Given the description of an element on the screen output the (x, y) to click on. 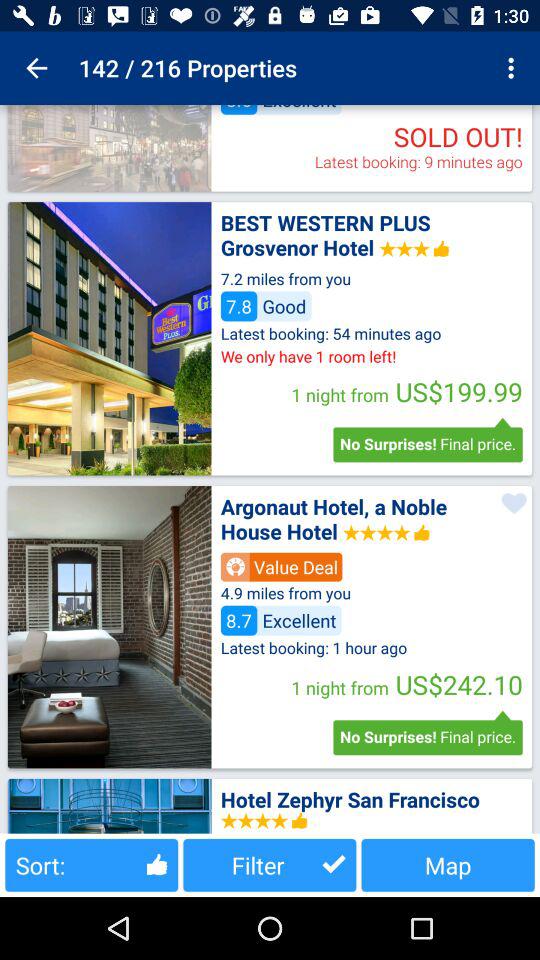
turn off the map item (447, 864)
